Given the description of an element on the screen output the (x, y) to click on. 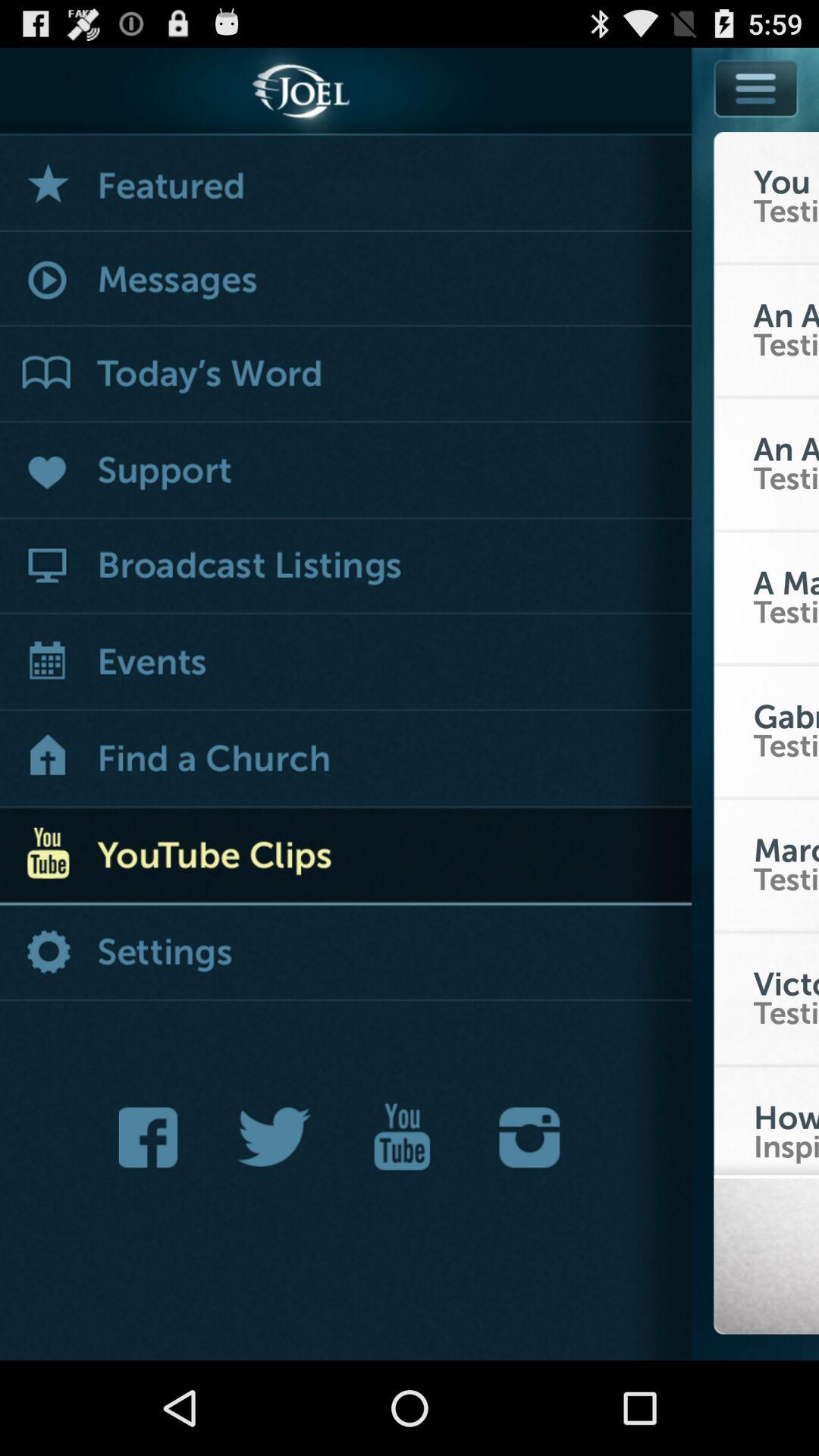
launch youtube (401, 1137)
